Given the description of an element on the screen output the (x, y) to click on. 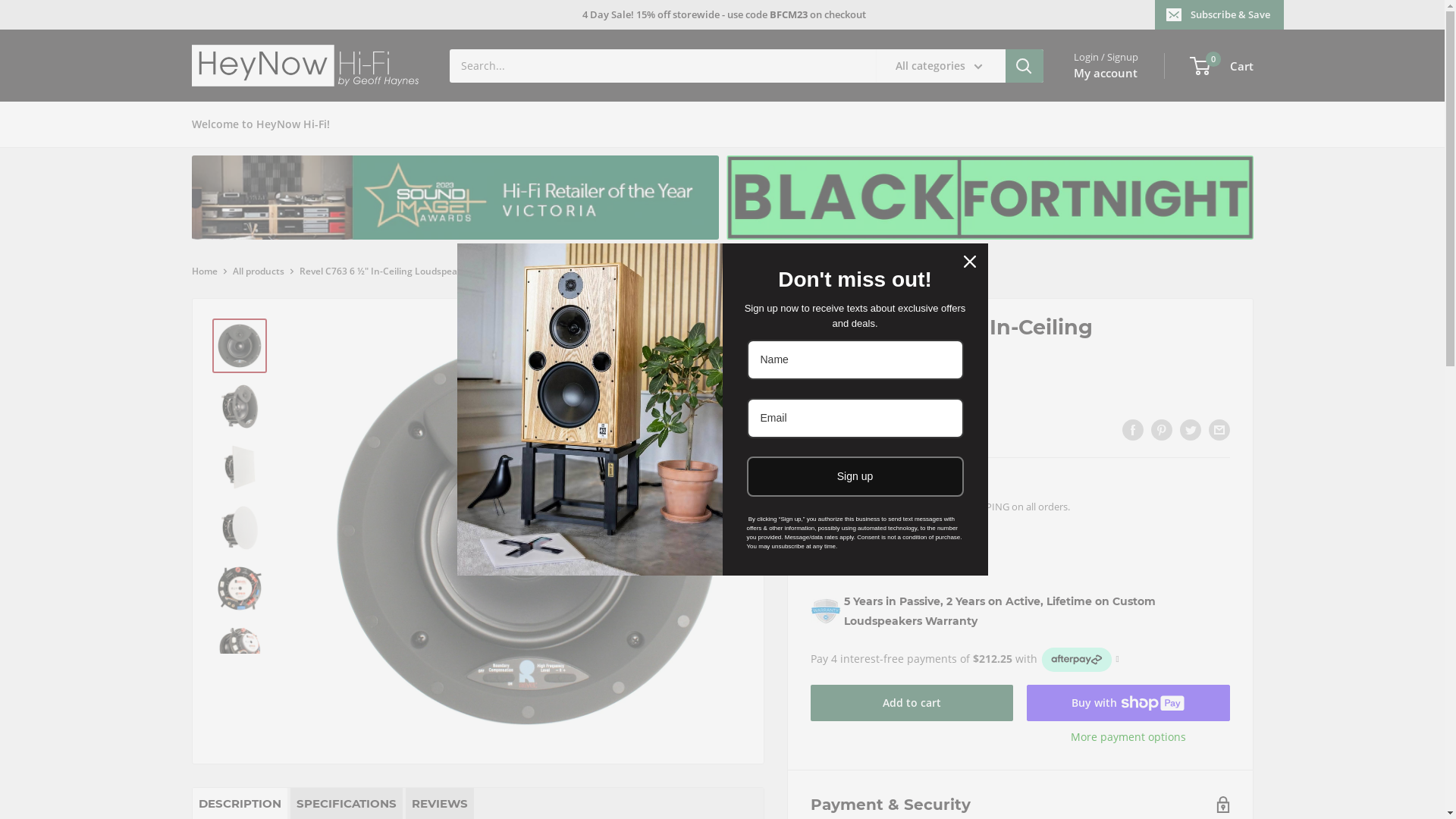
Subscribe & Save Element type: text (1218, 14)
My account Element type: text (1105, 72)
HeyNow Hi-Fi Element type: text (304, 65)
Welcome to HeyNow Hi-Fi! Element type: text (260, 124)
Home Element type: text (203, 270)
REVEL Element type: text (822, 391)
Increase quantity by 1 Element type: hover (965, 553)
No reviews Element type: text (869, 430)
More payment options Element type: text (1128, 736)
0
Cart Element type: text (1221, 65)
All products Element type: text (257, 270)
Add to cart Element type: text (911, 702)
Decrease quantity by 1 Element type: hover (884, 553)
Sign up Element type: text (854, 476)
